Given the description of an element on the screen output the (x, y) to click on. 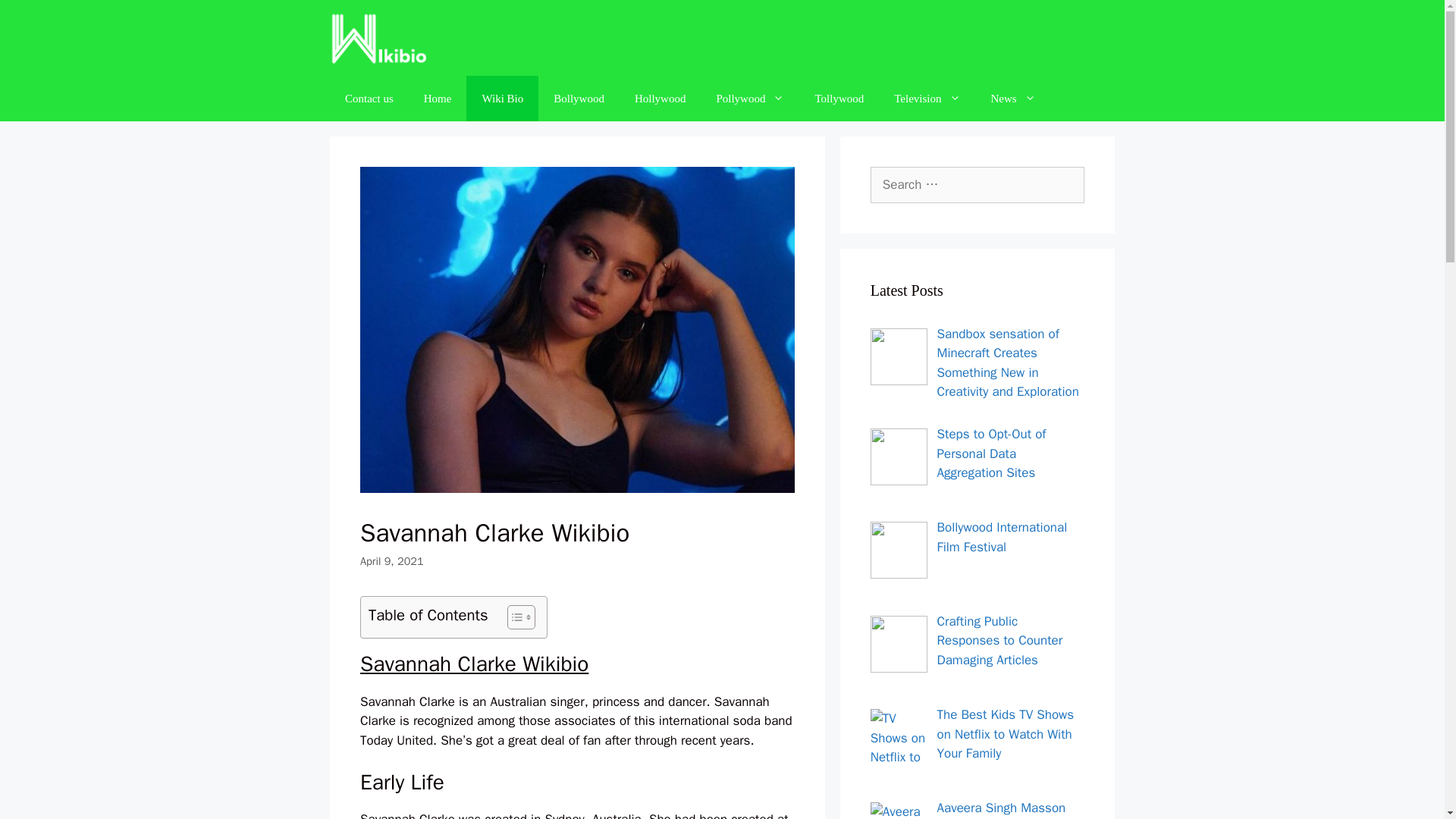
Search for: (977, 185)
News (1013, 98)
Hollywood (660, 98)
Search (33, 18)
Television (927, 98)
Bollywood International Film Festival (1002, 537)
The Best Kids TV Shows on Netflix to Watch With Your Family (1005, 733)
Contact us (369, 98)
Steps to Opt-Out of Personal Data Aggregation Sites (991, 452)
